Given the description of an element on the screen output the (x, y) to click on. 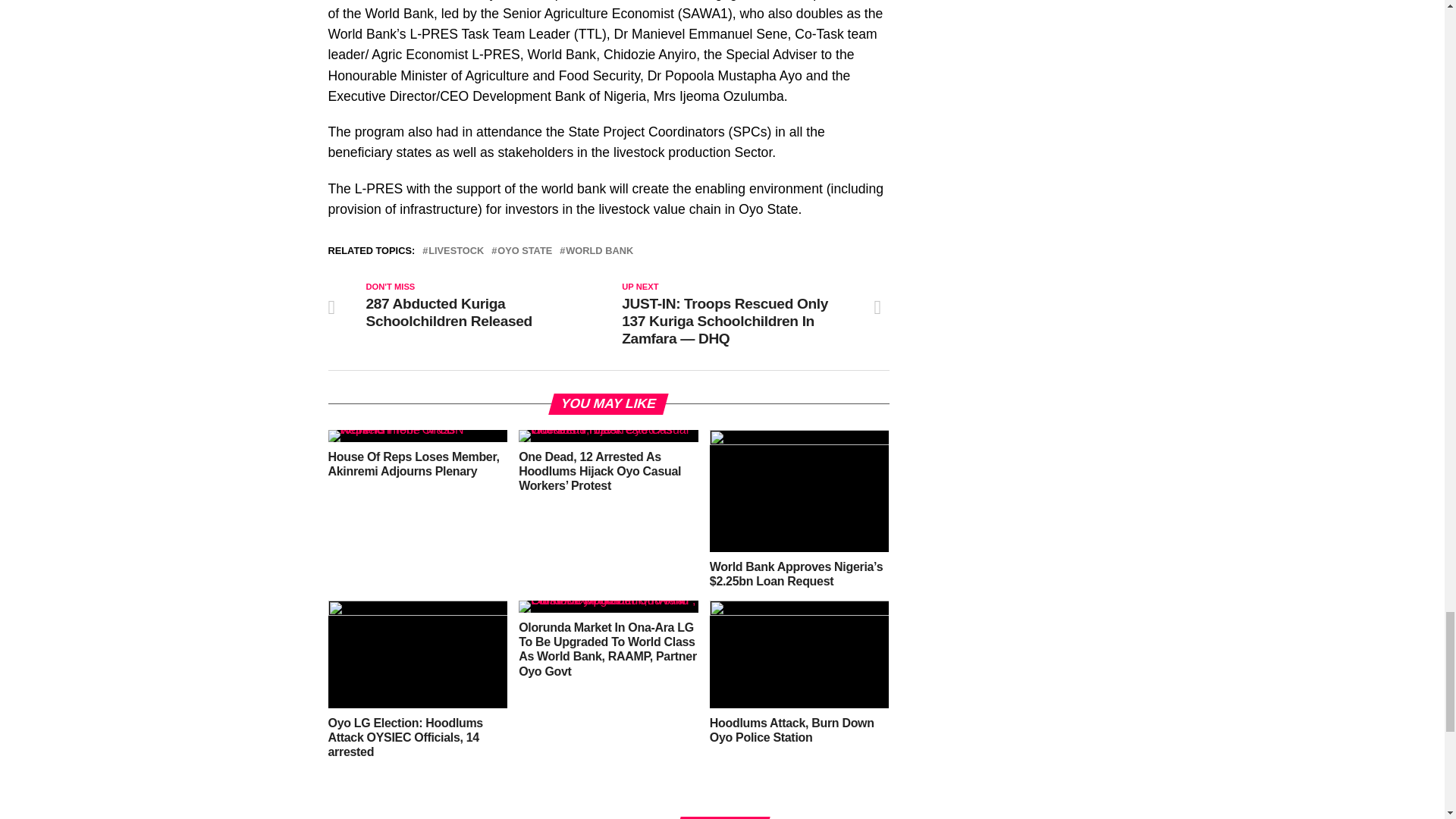
WORLD BANK (599, 251)
LIVESTOCK (455, 251)
OYO STATE (524, 251)
